Given the description of an element on the screen output the (x, y) to click on. 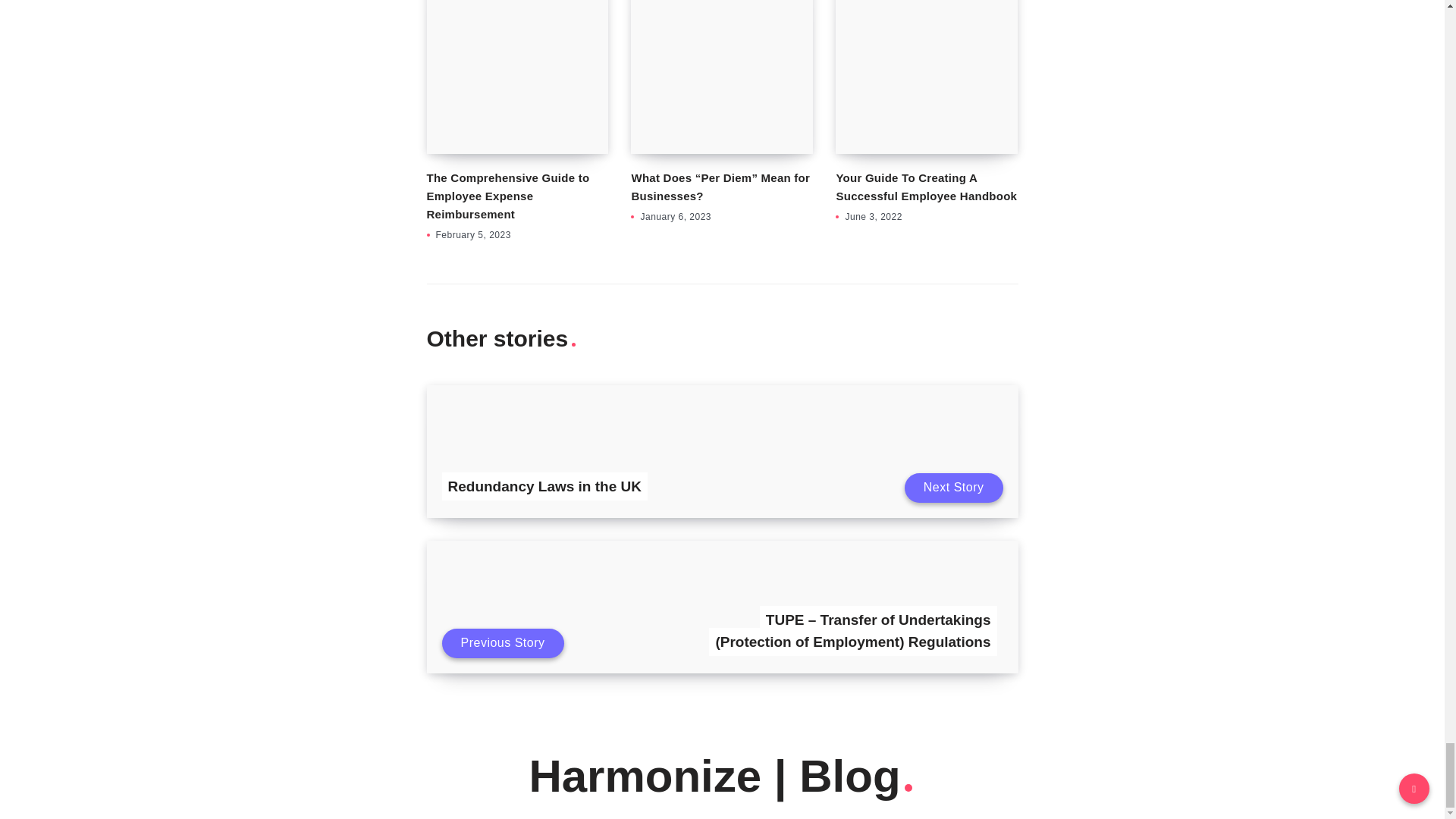
The Comprehensive Guide to Employee Expense Reimbursement  (507, 195)
Your Guide To Creating A Successful Employee Handbook (925, 186)
